Given the description of an element on the screen output the (x, y) to click on. 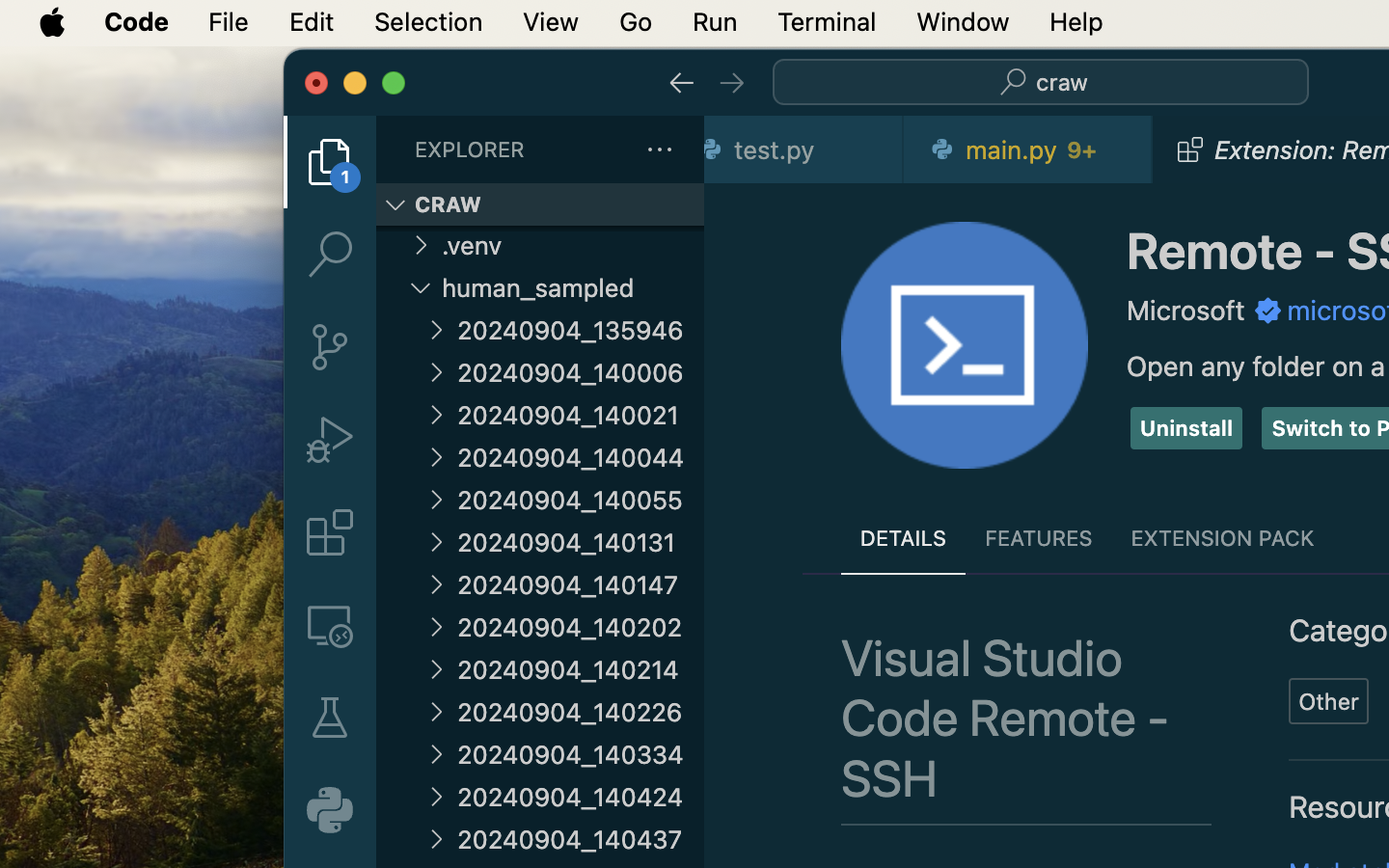
 Element type: AXGroup (329, 161)
0  Element type: AXRadioButton (329, 346)
 Element type: AXStaticText (1268, 310)
craw Element type: AXStaticText (1061, 82)
0  Element type: AXRadioButton (329, 439)
